Given the description of an element on the screen output the (x, y) to click on. 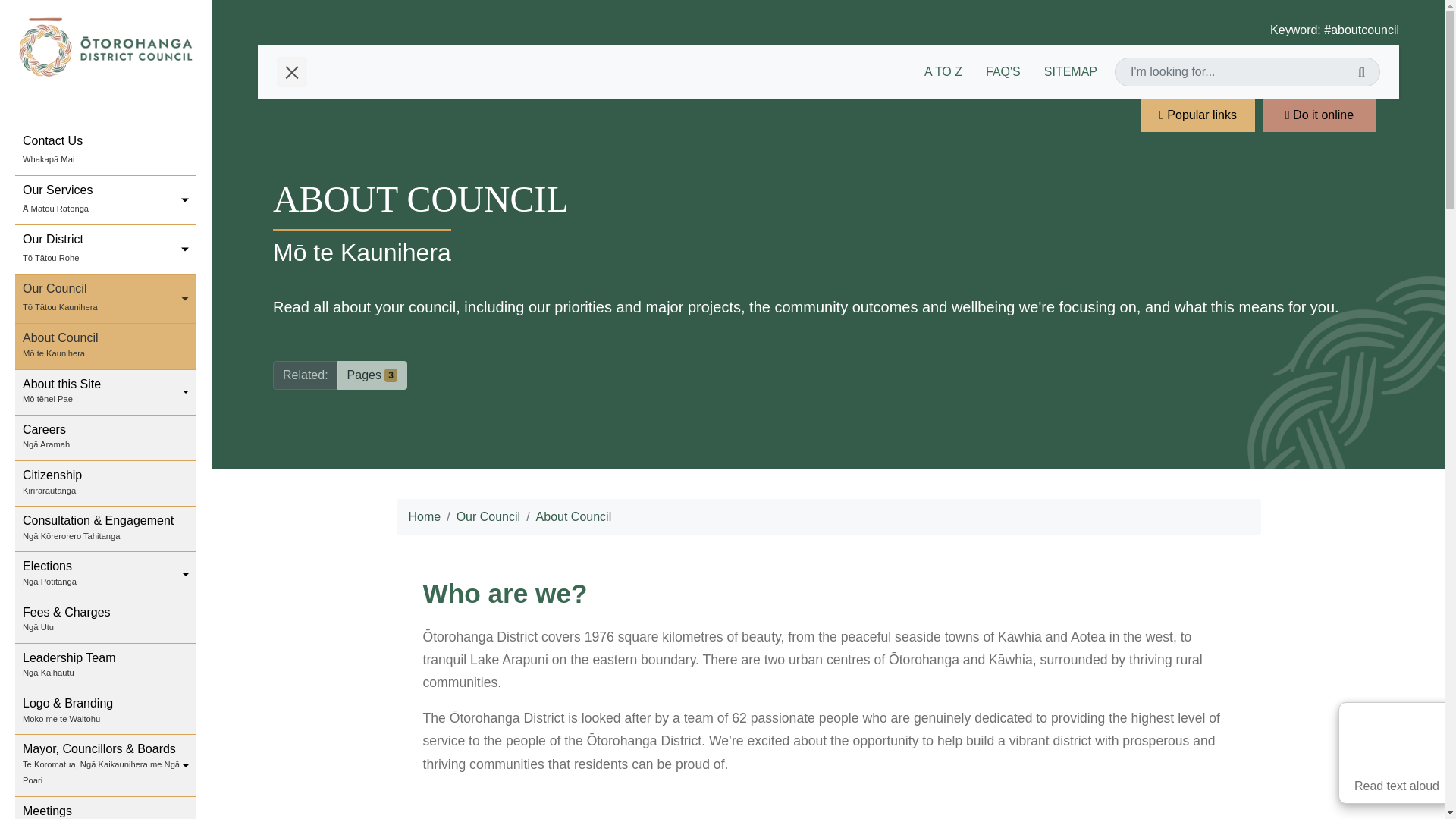
Our Services (105, 200)
Contact Us (105, 151)
Go to home page.  (105, 47)
